Given the description of an element on the screen output the (x, y) to click on. 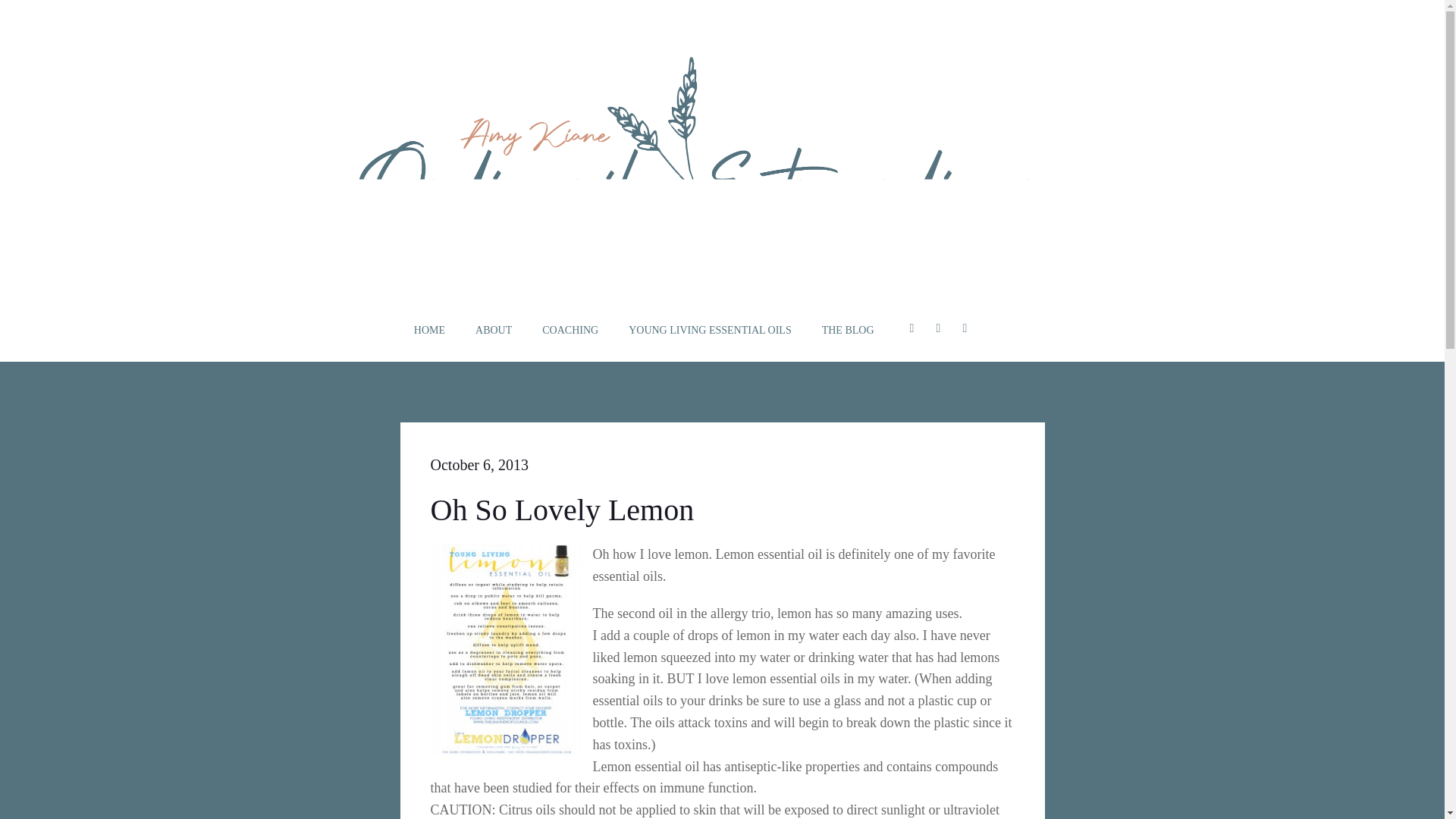
YOUNG LIVING ESSENTIAL OILS (710, 330)
COACHING (569, 330)
THE BLOG (848, 330)
ABOUT (494, 330)
HOME (429, 330)
